Given the description of an element on the screen output the (x, y) to click on. 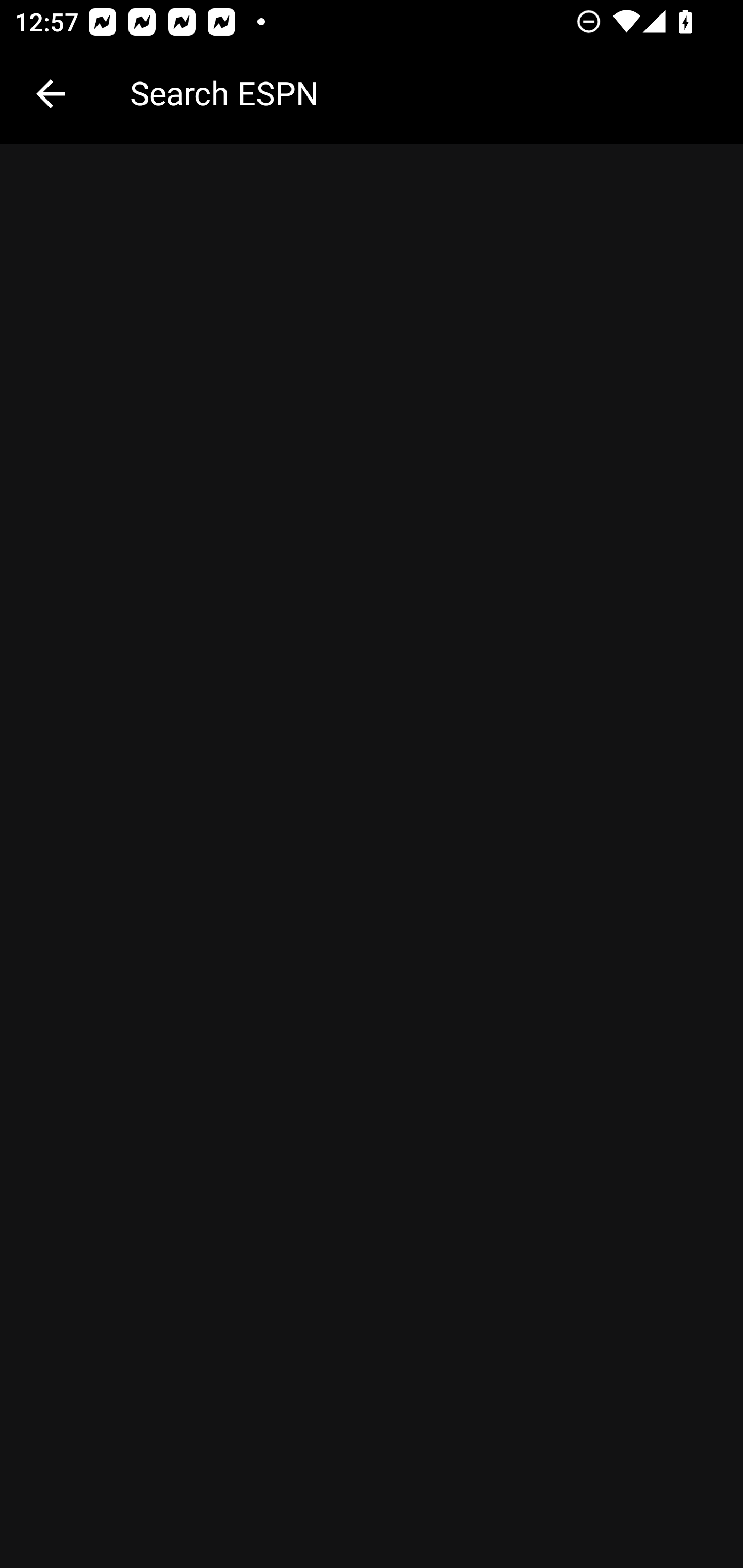
Collapse (50, 93)
Search ESPN (421, 92)
